Given the description of an element on the screen output the (x, y) to click on. 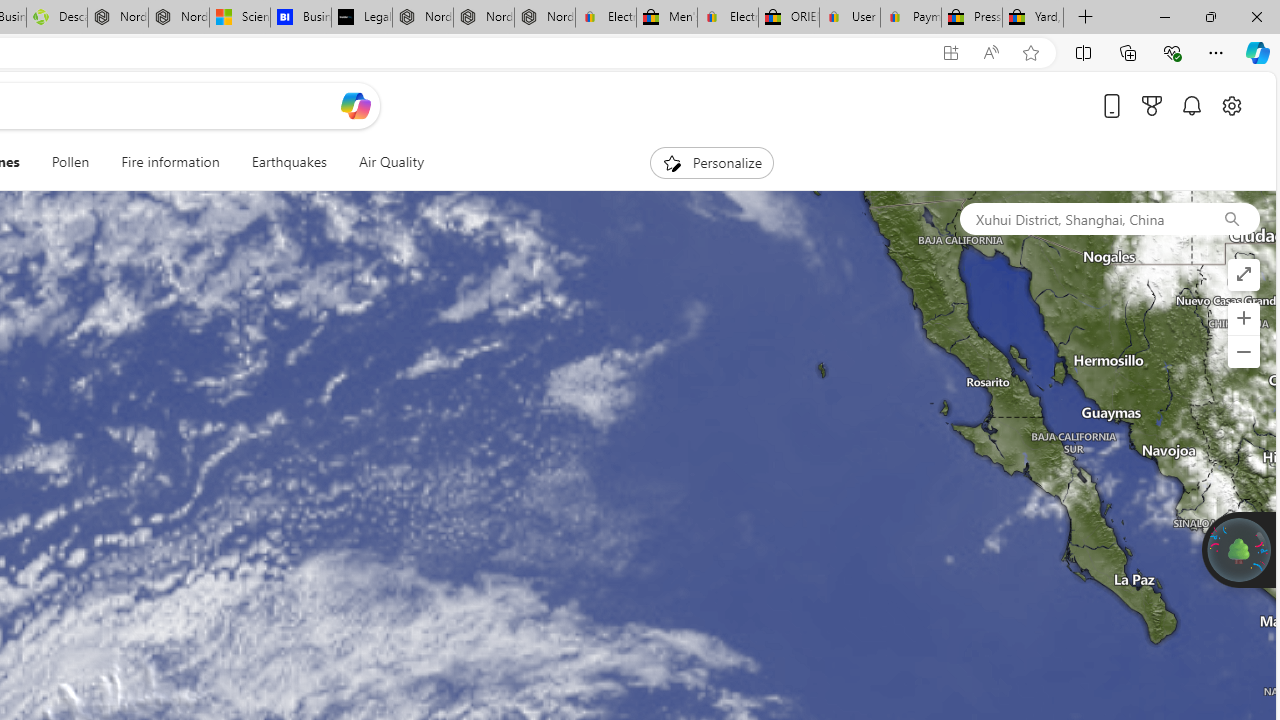
Zoom in (1243, 318)
